Given the description of an element on the screen output the (x, y) to click on. 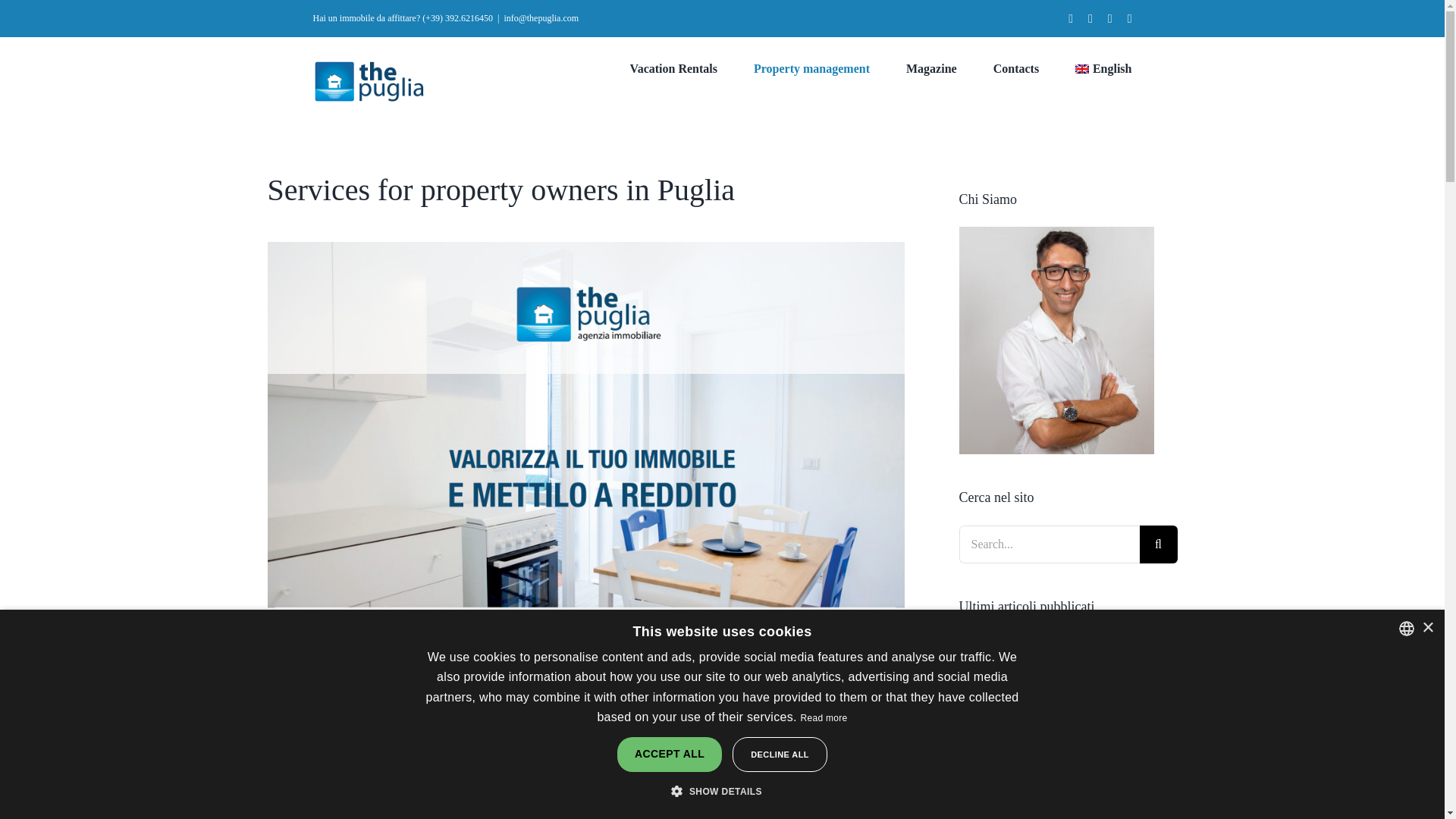
English (1103, 68)
Instagram (1090, 18)
Villa Dalesco, villa with pool in Puglia (1062, 644)
Vacation Rentals (673, 68)
Property management (811, 68)
Magazine (930, 68)
Torre Lapillo beach, the most beautiful in Salento? (1068, 806)
Facebook (1070, 18)
5 travelers priorities in the Expedia travel report (1068, 752)
English (1103, 68)
YouTube (1110, 18)
Villa Palma, villa with pool near the sea in Puglia (1064, 692)
Contacts (1015, 68)
Twitter (1129, 18)
